Given the description of an element on the screen output the (x, y) to click on. 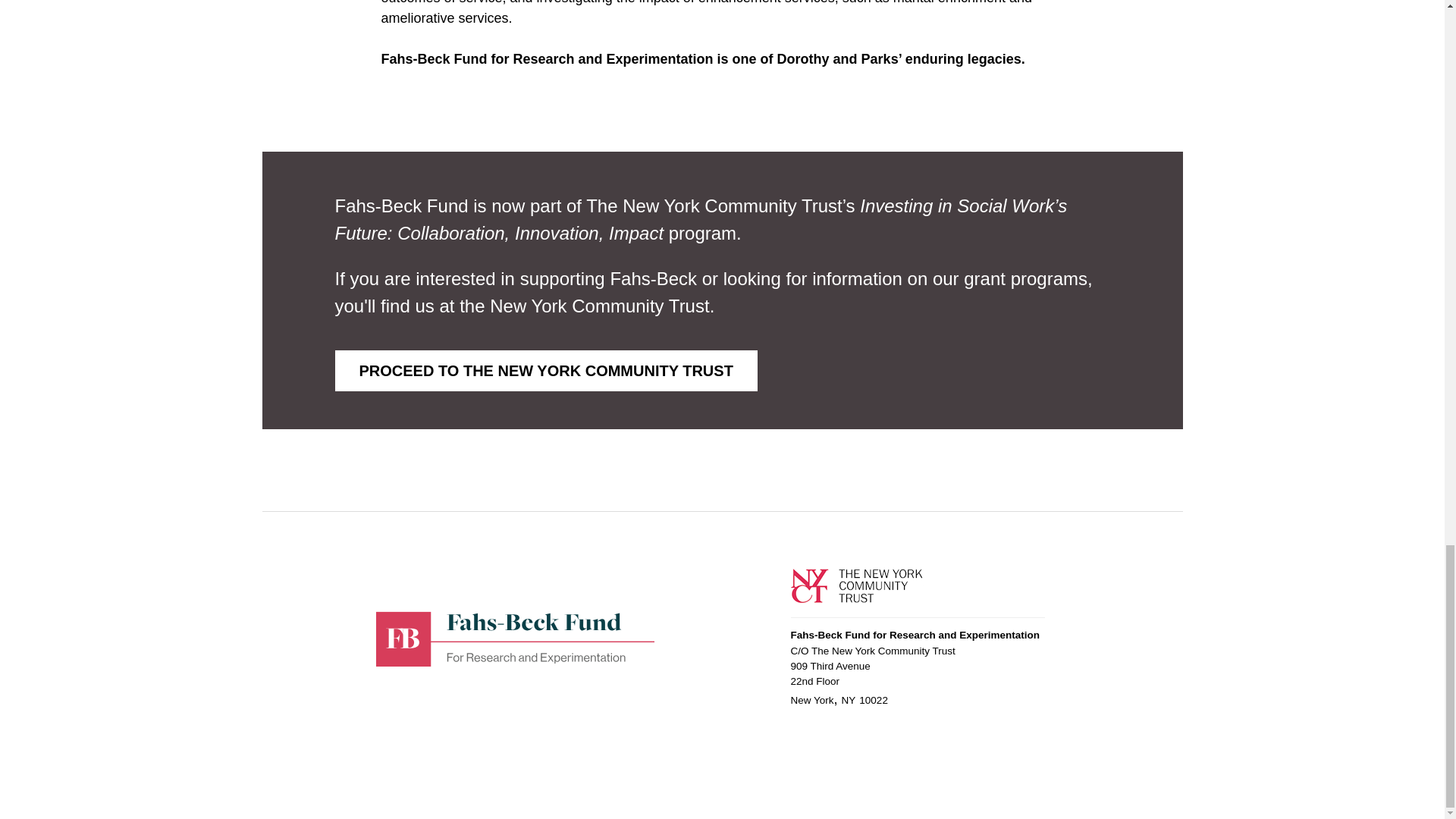
PROCEED TO THE NEW YORK COMMUNITY TRUST (545, 370)
